Given the description of an element on the screen output the (x, y) to click on. 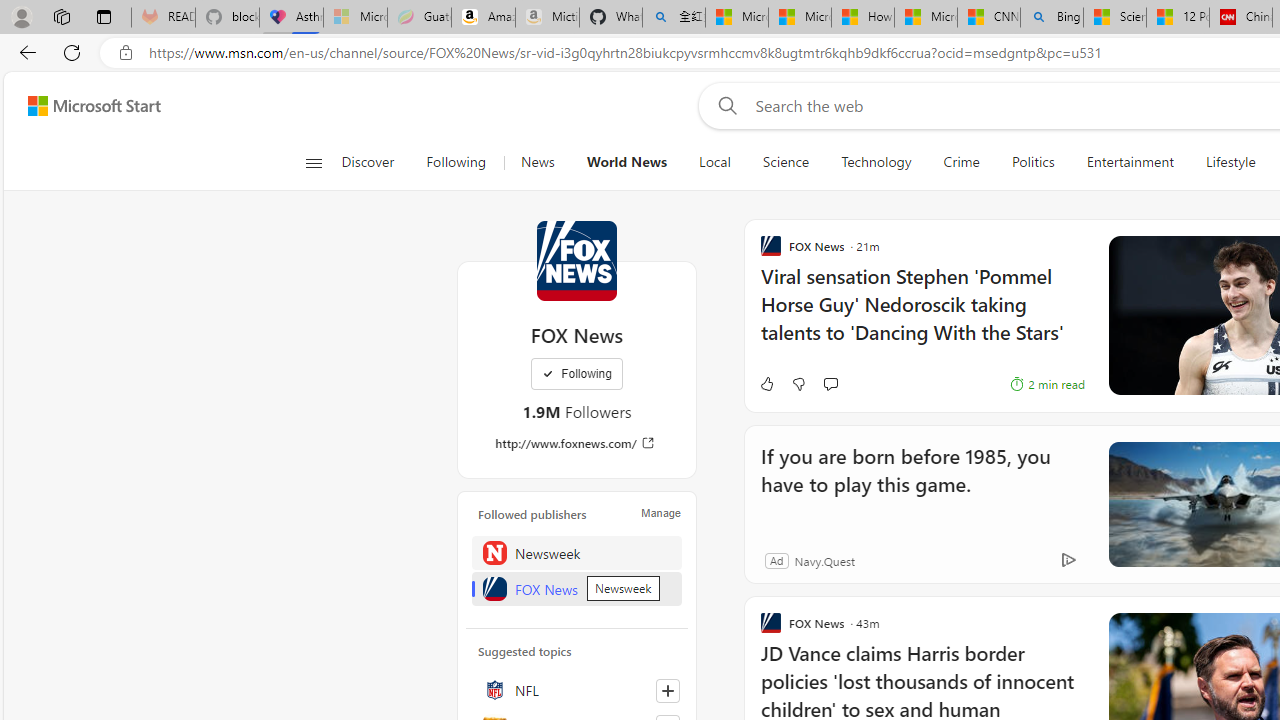
Navy.Quest (824, 560)
